Given the description of an element on the screen output the (x, y) to click on. 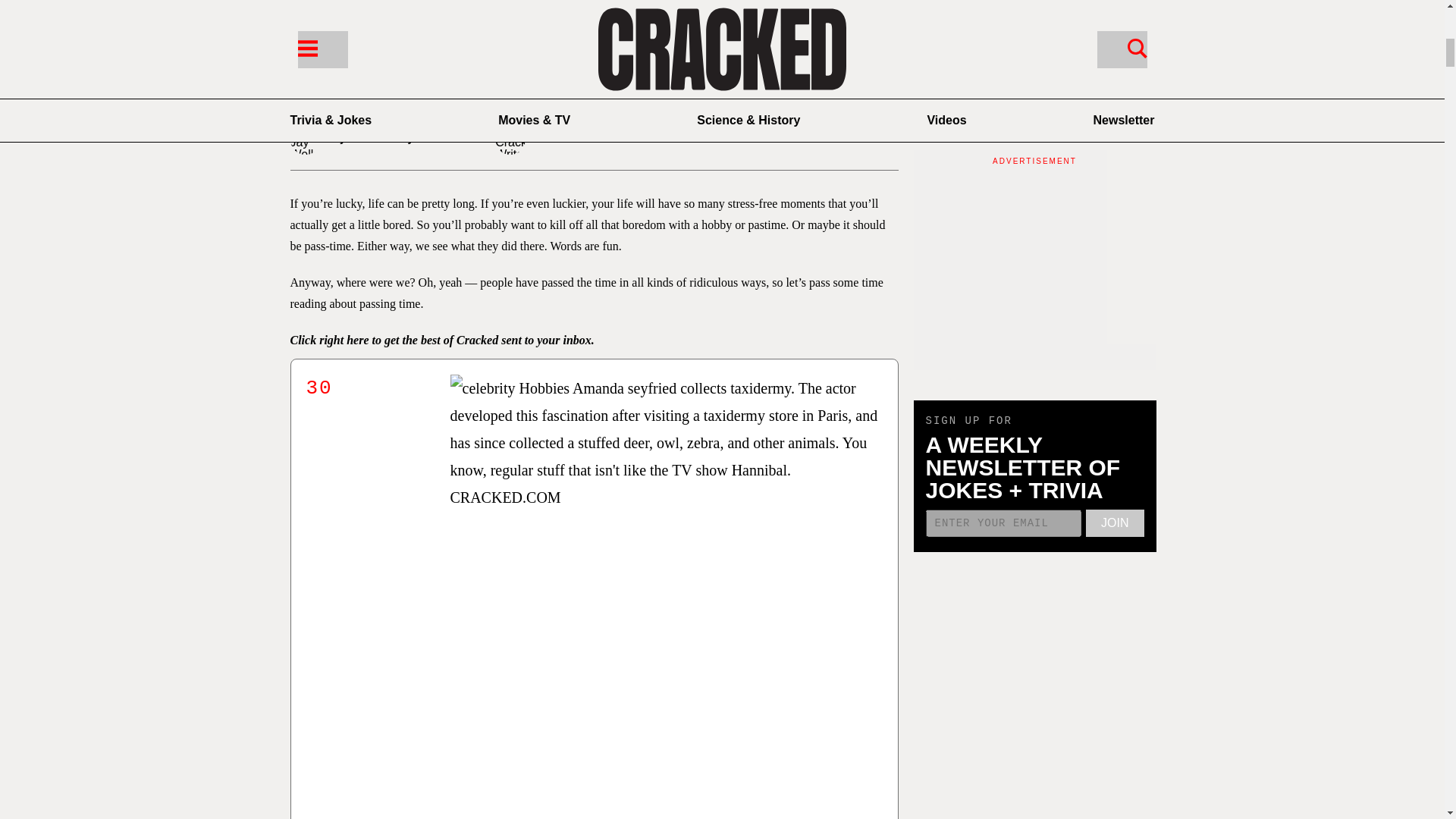
Jay Wells L'Ecuyer (388, 139)
Cracked Writers (594, 139)
